Given the description of an element on the screen output the (x, y) to click on. 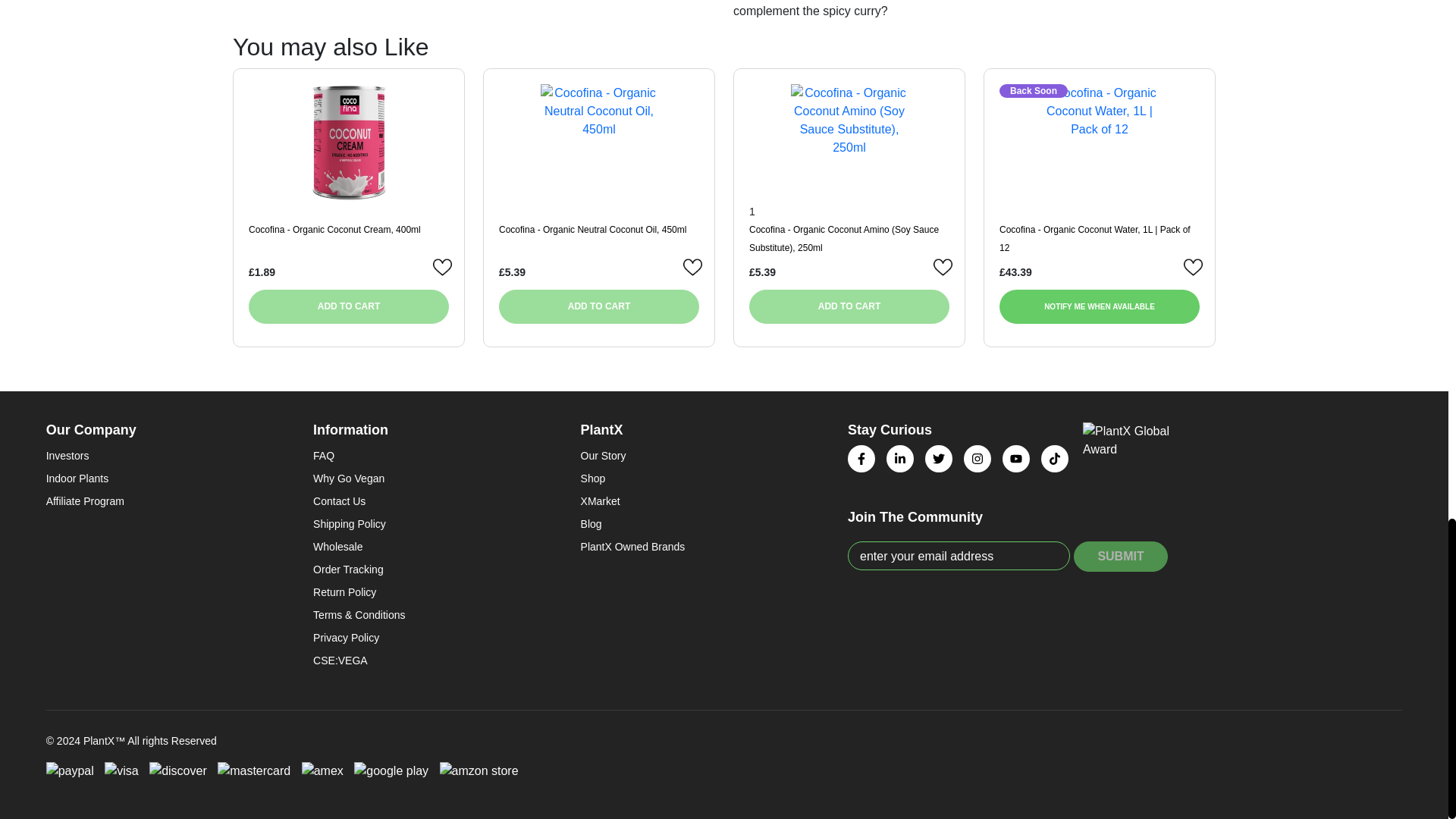
Twitter (938, 458)
YouTube (1016, 458)
Heart (692, 268)
Heart (1193, 268)
Tiktok (1054, 458)
Heart (943, 268)
Instagram (977, 458)
Submit (1120, 556)
Heart (443, 268)
Facebook (861, 458)
